Given the description of an element on the screen output the (x, y) to click on. 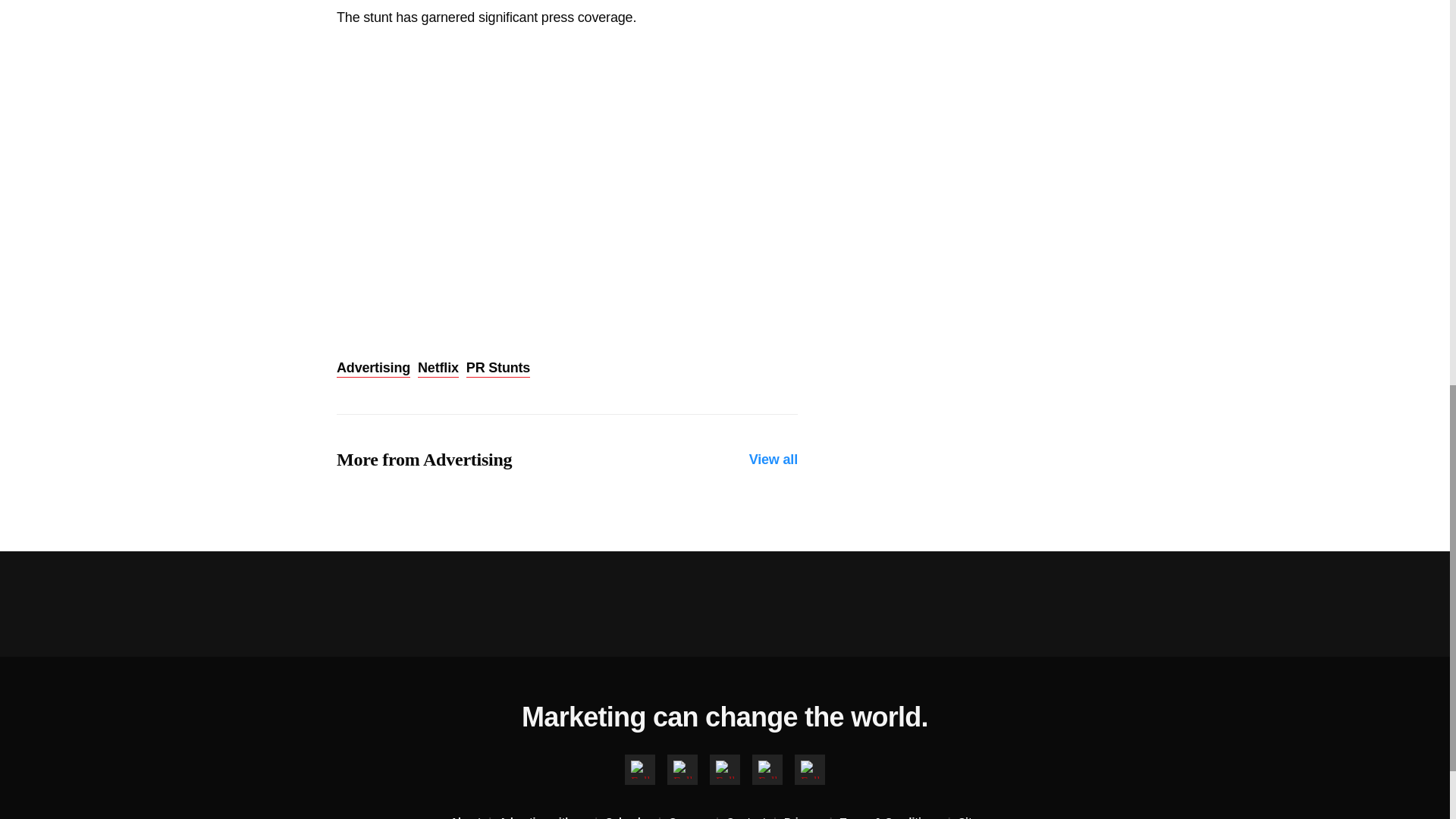
Advertising (373, 368)
Calendar (636, 816)
Careers (697, 816)
Netflix (437, 368)
Advertise with us (552, 816)
PR Stunts (497, 368)
About (474, 816)
View all (773, 459)
